Given the description of an element on the screen output the (x, y) to click on. 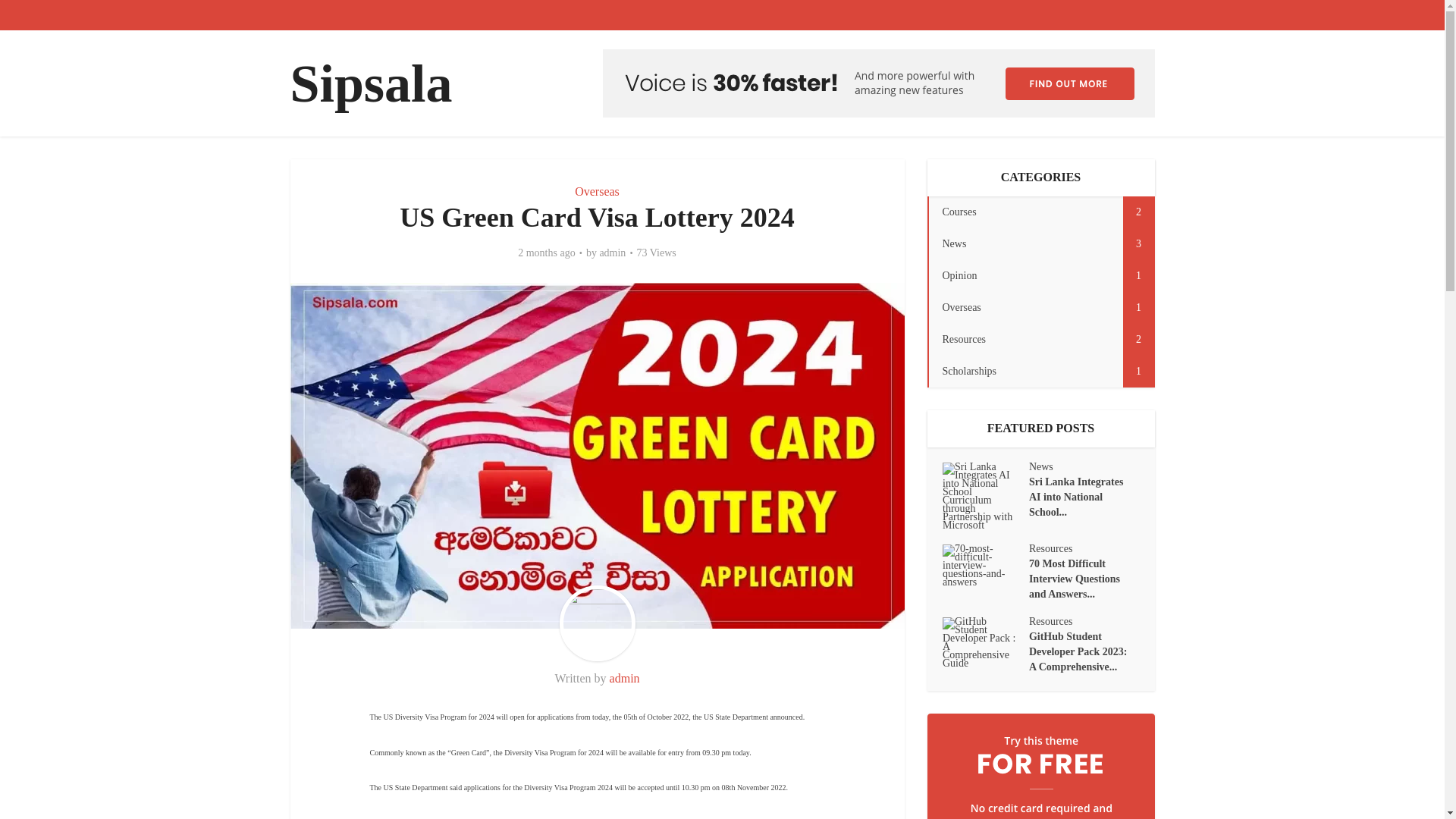
Sipsala (370, 83)
Overseas (1040, 339)
70 Most Difficult Interview Questions and Answers... (1040, 275)
Sri Lanka Integrates AI into National School... (597, 191)
GitHub Student Developer Pack 2023: A Comprehensive Guide (1084, 576)
